Given the description of an element on the screen output the (x, y) to click on. 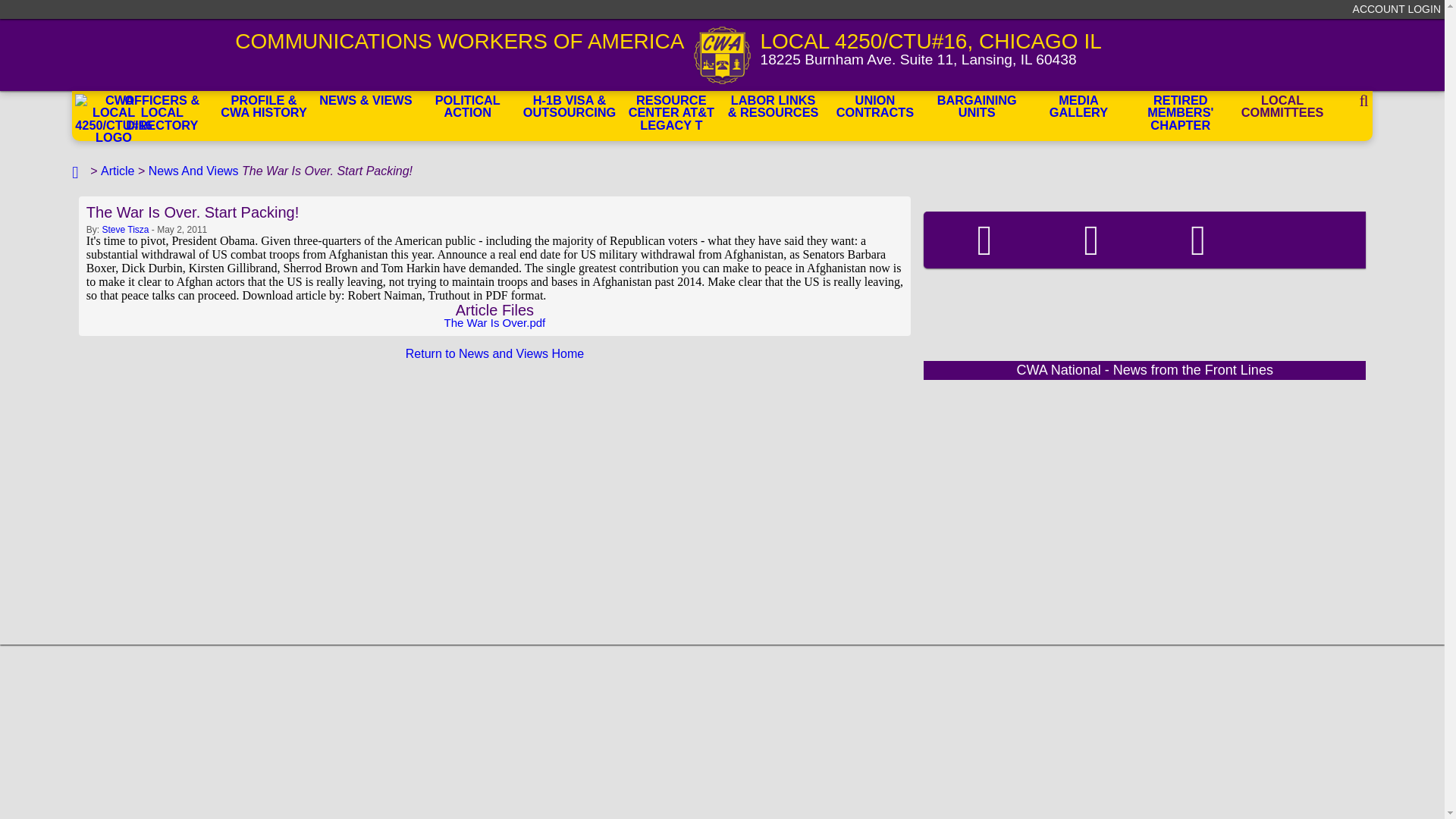
POLITICAL ACTION (467, 108)
Retired Members (1180, 108)
CWA Officers (162, 108)
UNION CONTRACTS (875, 108)
LOCAL COMMITTEES (1282, 108)
H-1B Visas (569, 108)
Labor Links (773, 108)
The War Is Over. Start Packing! (493, 211)
News And Views (193, 170)
Media Gallery (1077, 108)
